Given the description of an element on the screen output the (x, y) to click on. 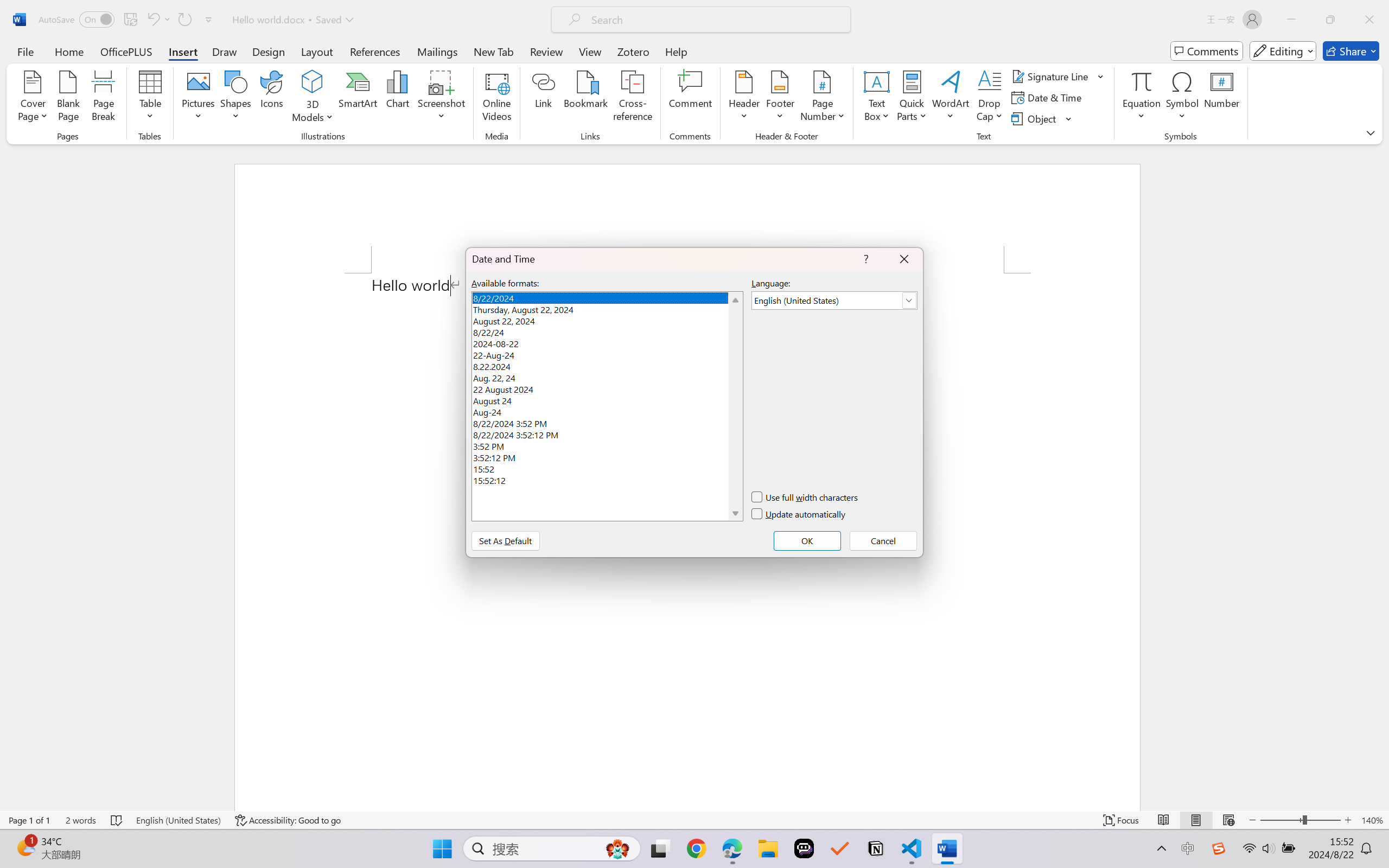
Zoom 140% (1372, 819)
Comments (1206, 50)
3:52:12 PM (606, 455)
Icons (271, 97)
Cover Page (33, 97)
Restore Down (1330, 19)
Set As Default (505, 540)
Quick Parts (912, 97)
Can't Undo (152, 19)
22-Aug-24 (606, 353)
Object... (1035, 118)
